Given the description of an element on the screen output the (x, y) to click on. 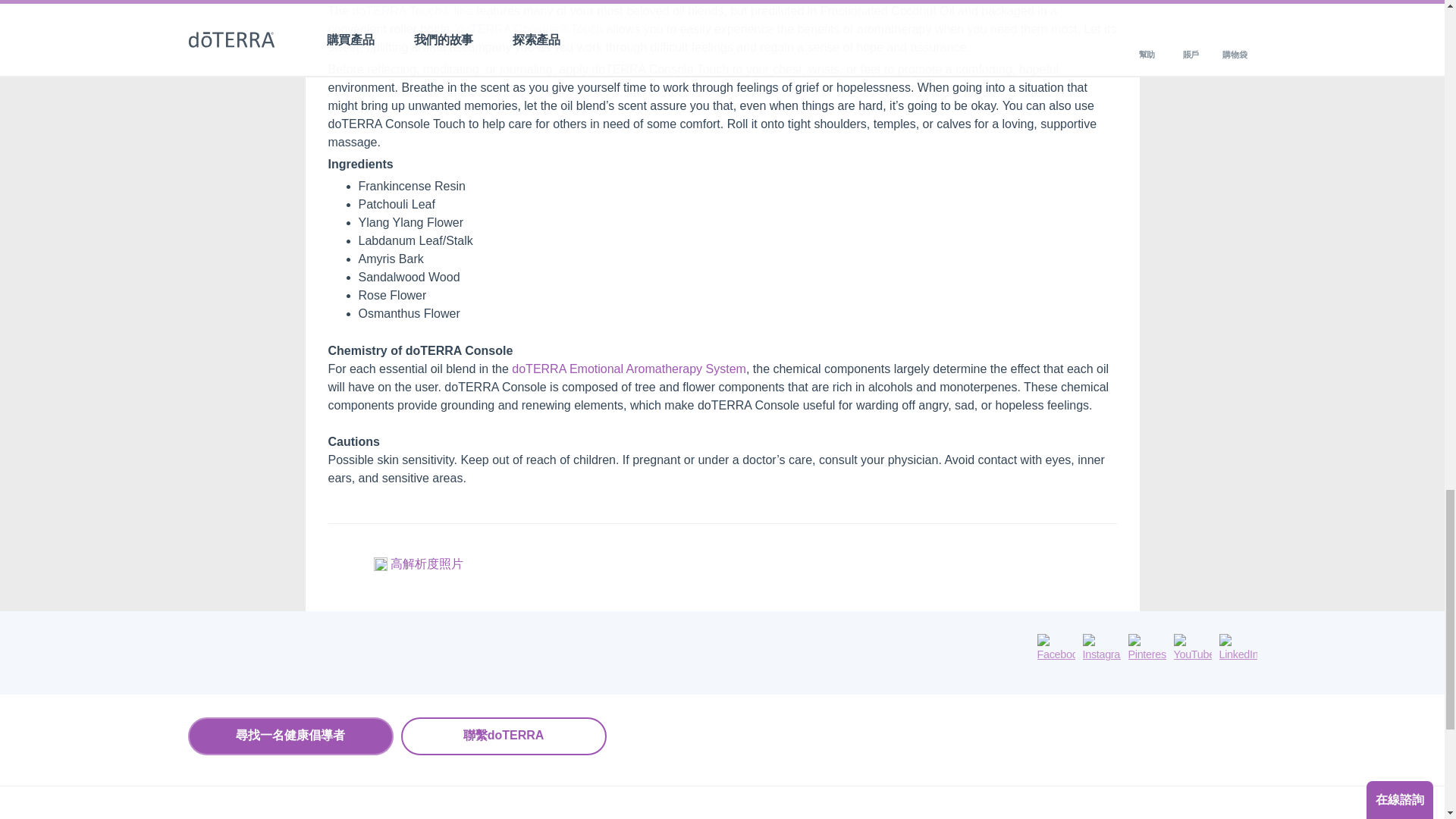
Pinterest (1147, 648)
LinkedIn (1238, 648)
Instagram (1102, 648)
Facebook (1055, 648)
YouTube (1192, 648)
